Given the description of an element on the screen output the (x, y) to click on. 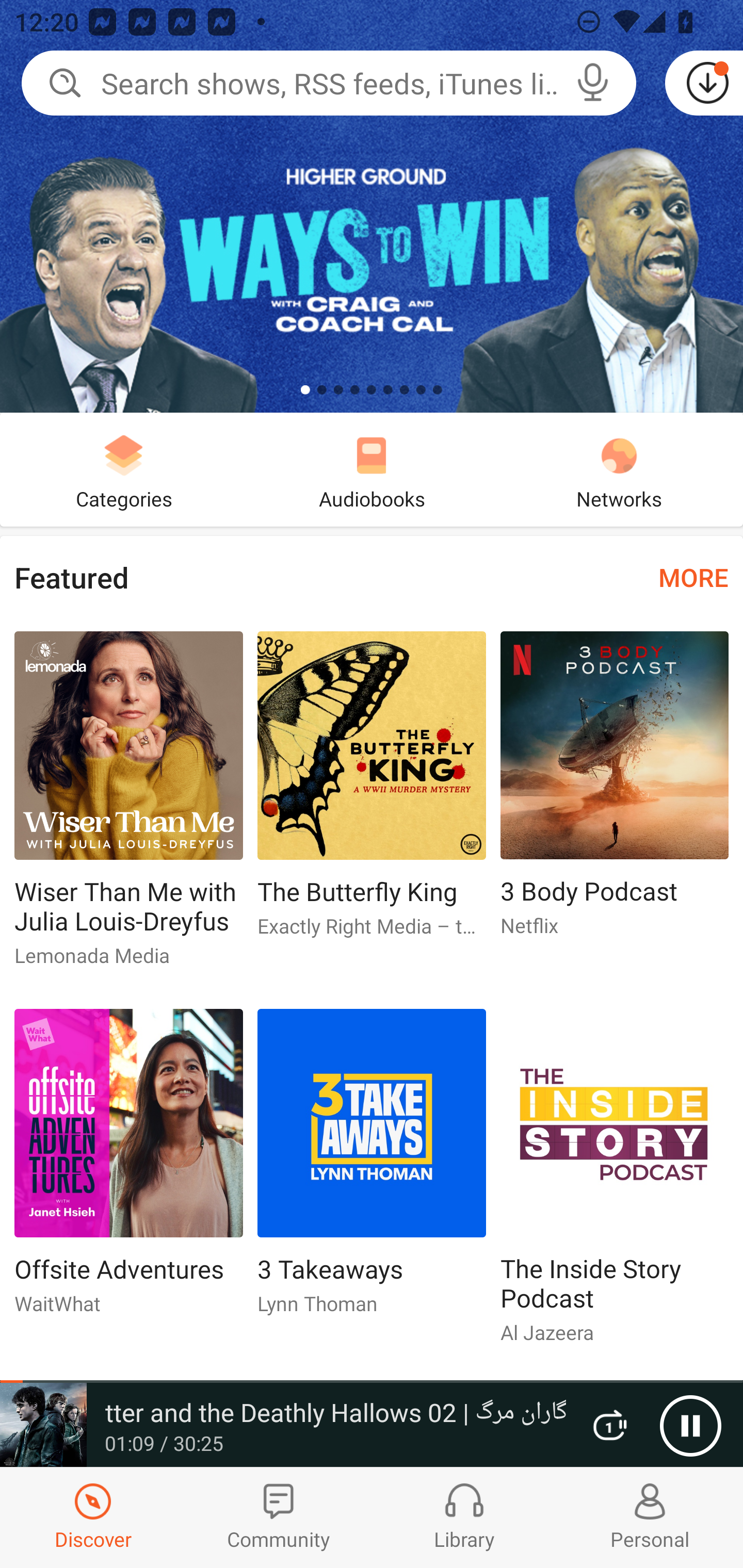
Ways To Win (371, 206)
Categories (123, 469)
Audiobooks (371, 469)
Networks (619, 469)
MORE (693, 576)
3 Body Podcast 3 Body Podcast Netflix (614, 792)
Offsite Adventures Offsite Adventures WaitWhat (128, 1169)
3 Takeaways 3 Takeaways Lynn Thoman (371, 1169)
Pause (690, 1425)
Discover (92, 1517)
Community (278, 1517)
Library (464, 1517)
Profiles and Settings Personal (650, 1517)
